Given the description of an element on the screen output the (x, y) to click on. 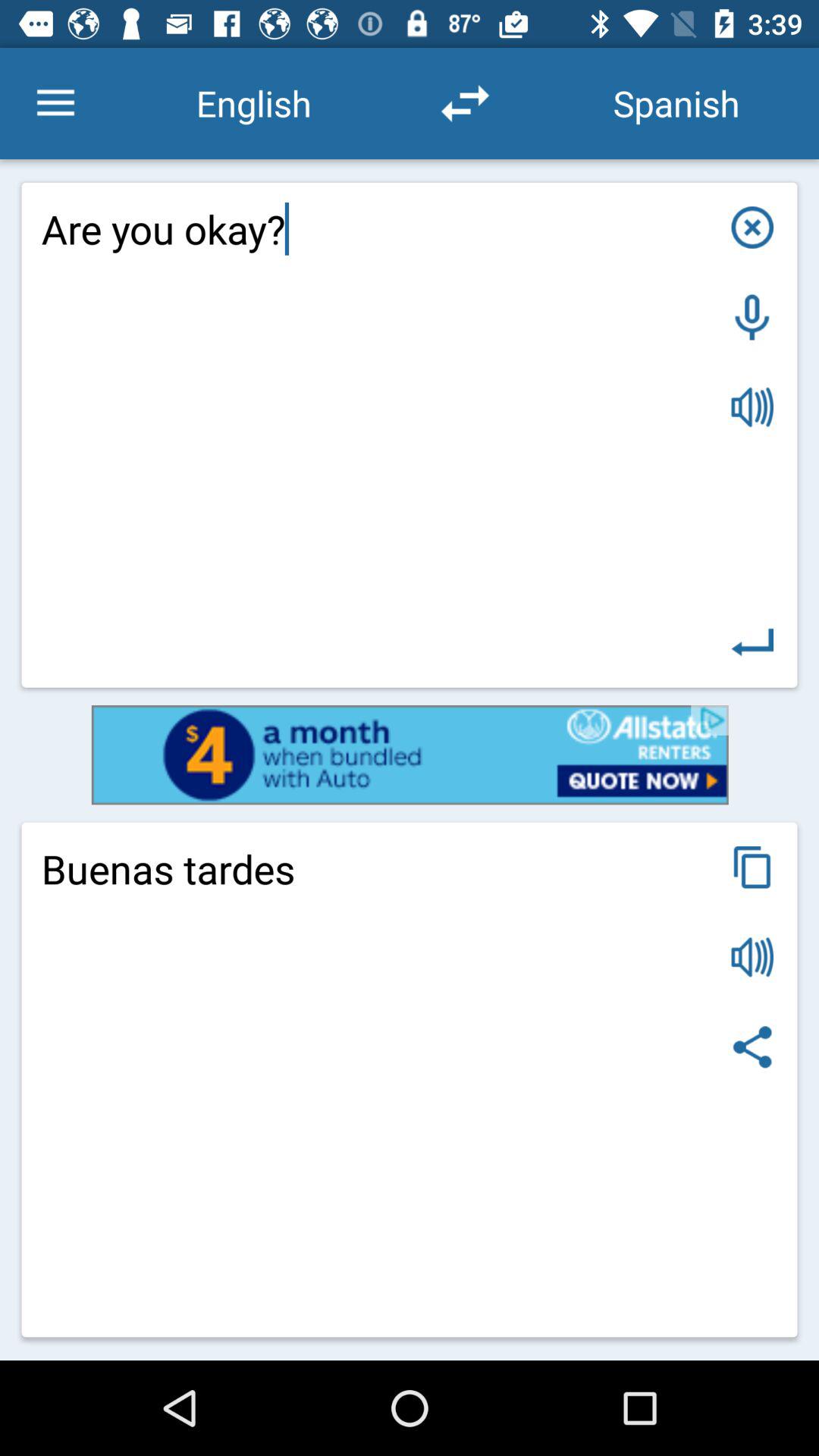
sound (752, 407)
